Given the description of an element on the screen output the (x, y) to click on. 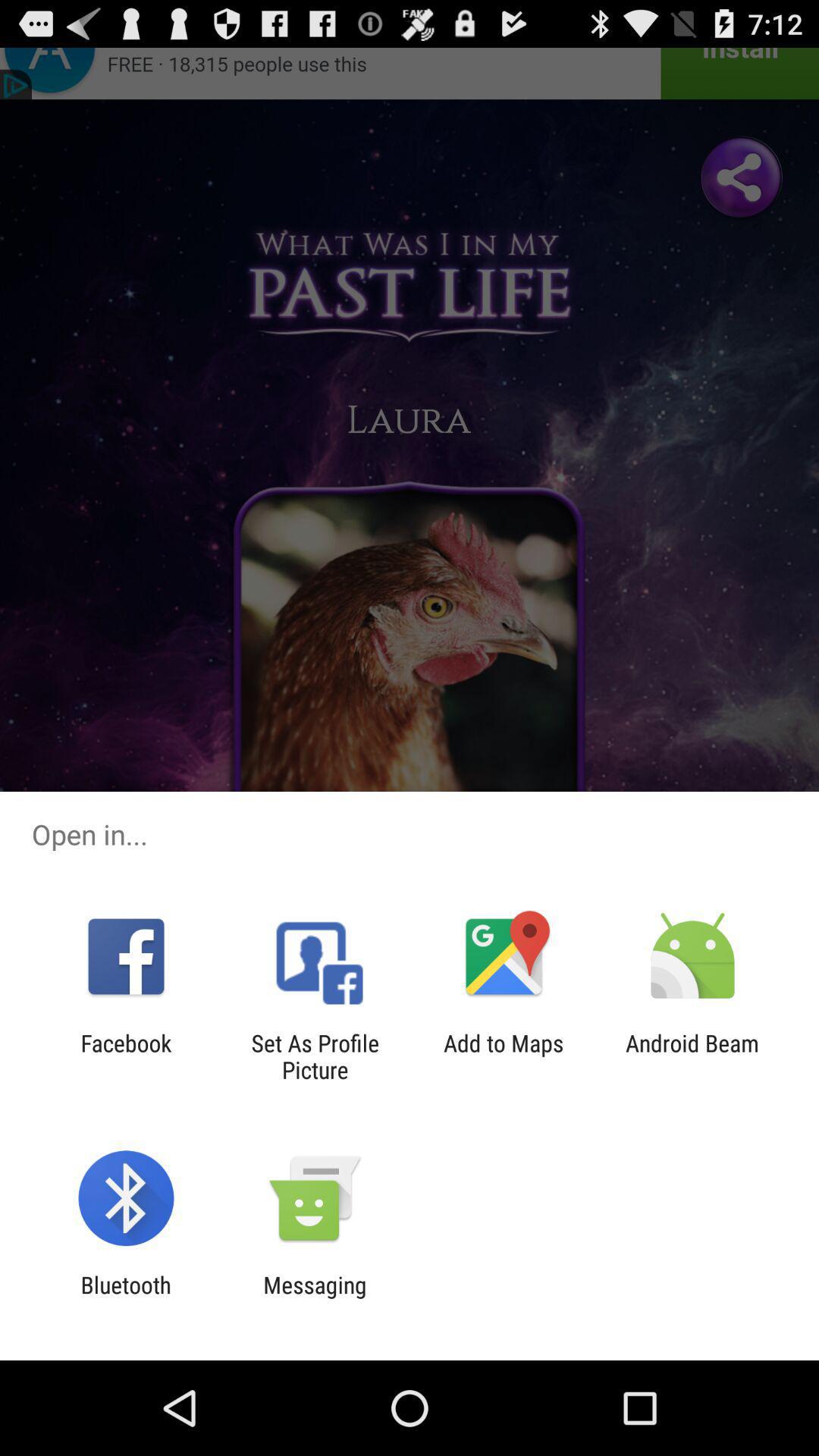
swipe until the add to maps item (503, 1056)
